Given the description of an element on the screen output the (x, y) to click on. 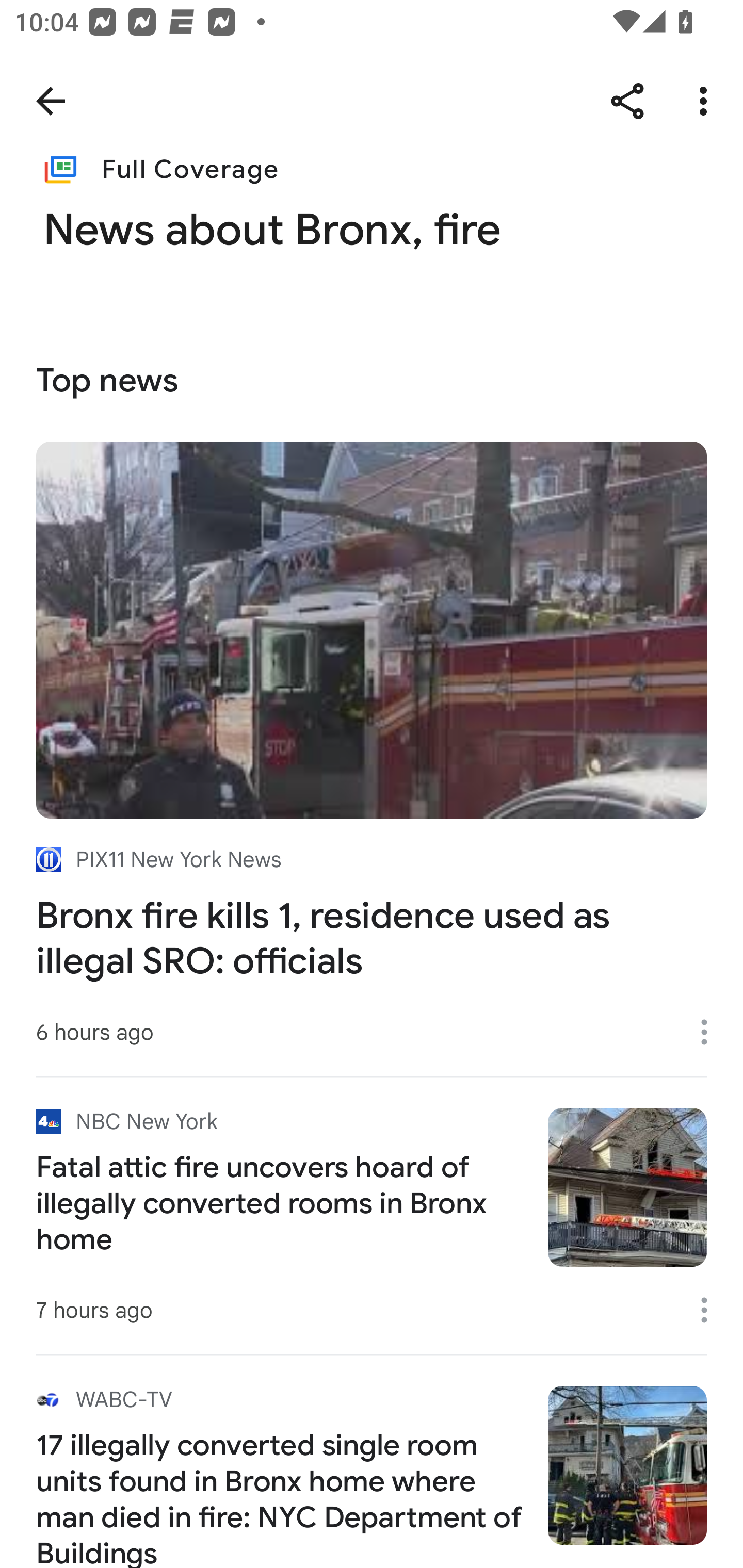
Navigate up (50, 101)
Share (626, 101)
More options (706, 101)
More options (711, 1032)
More options (711, 1309)
